Given the description of an element on the screen output the (x, y) to click on. 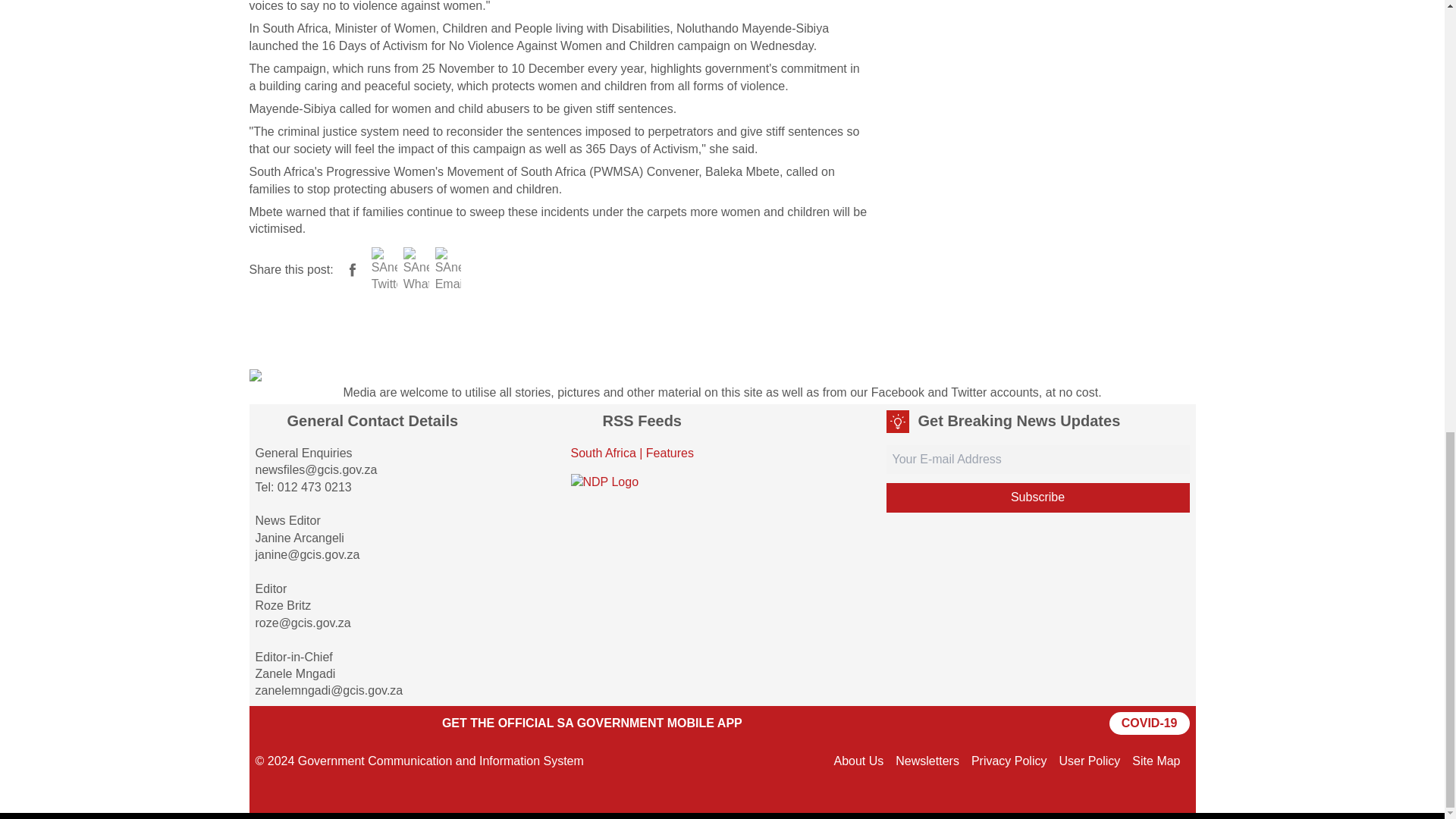
Subscribe (1037, 497)
User Policy (1088, 760)
Site Map (1155, 760)
Download from the iTunes App Store (381, 722)
About Us (857, 760)
South Africa (602, 452)
Privacy Policy (1008, 760)
Newsletters (927, 760)
Share on Facebook (352, 269)
Subscribe (1037, 497)
Download from the Google Play Store (292, 722)
Features (670, 452)
COVID-19 (1149, 722)
